Given the description of an element on the screen output the (x, y) to click on. 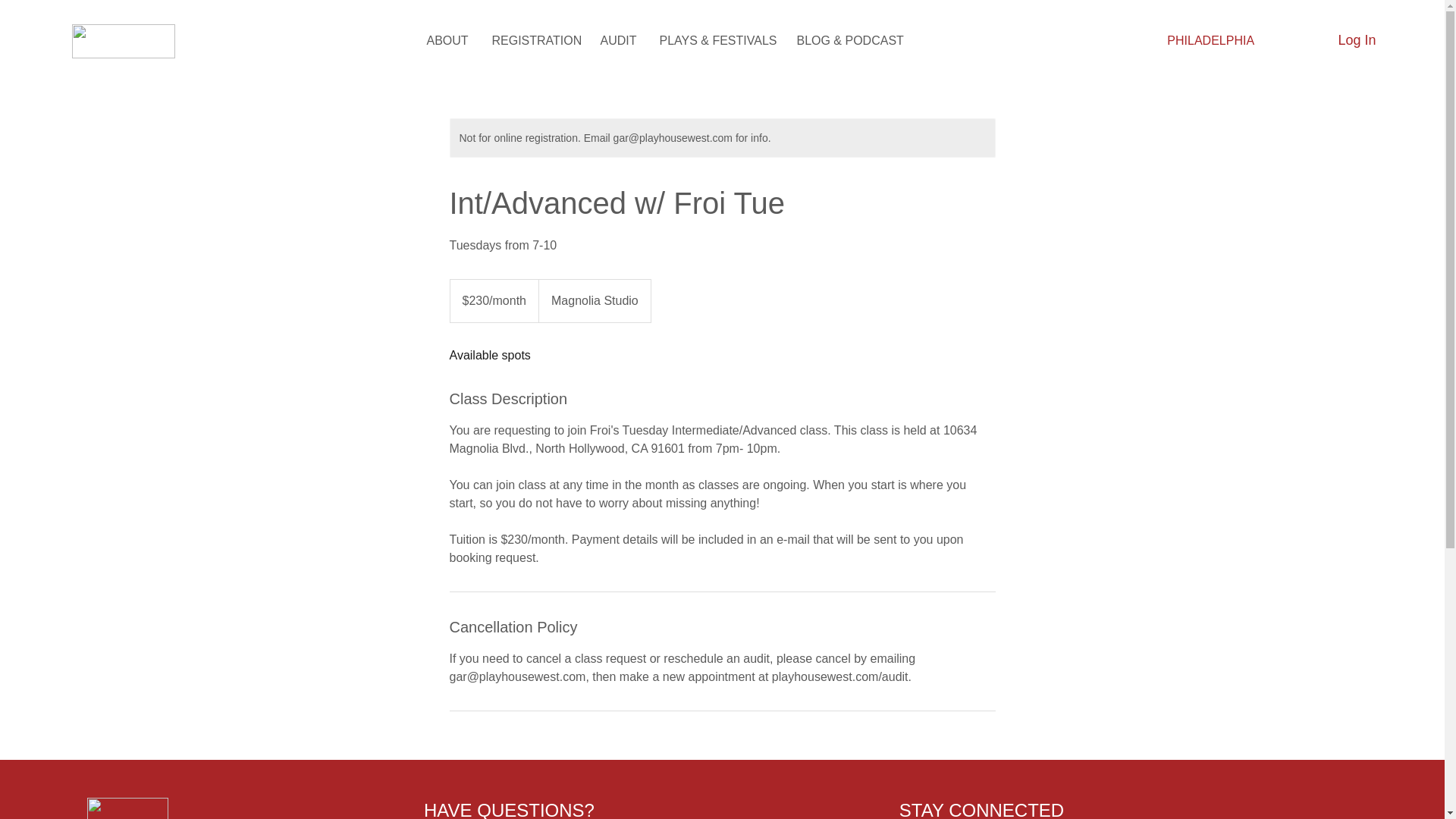
AUDIT (617, 40)
PHILADELPHIA (1211, 41)
Log In (1341, 40)
